Given the description of an element on the screen output the (x, y) to click on. 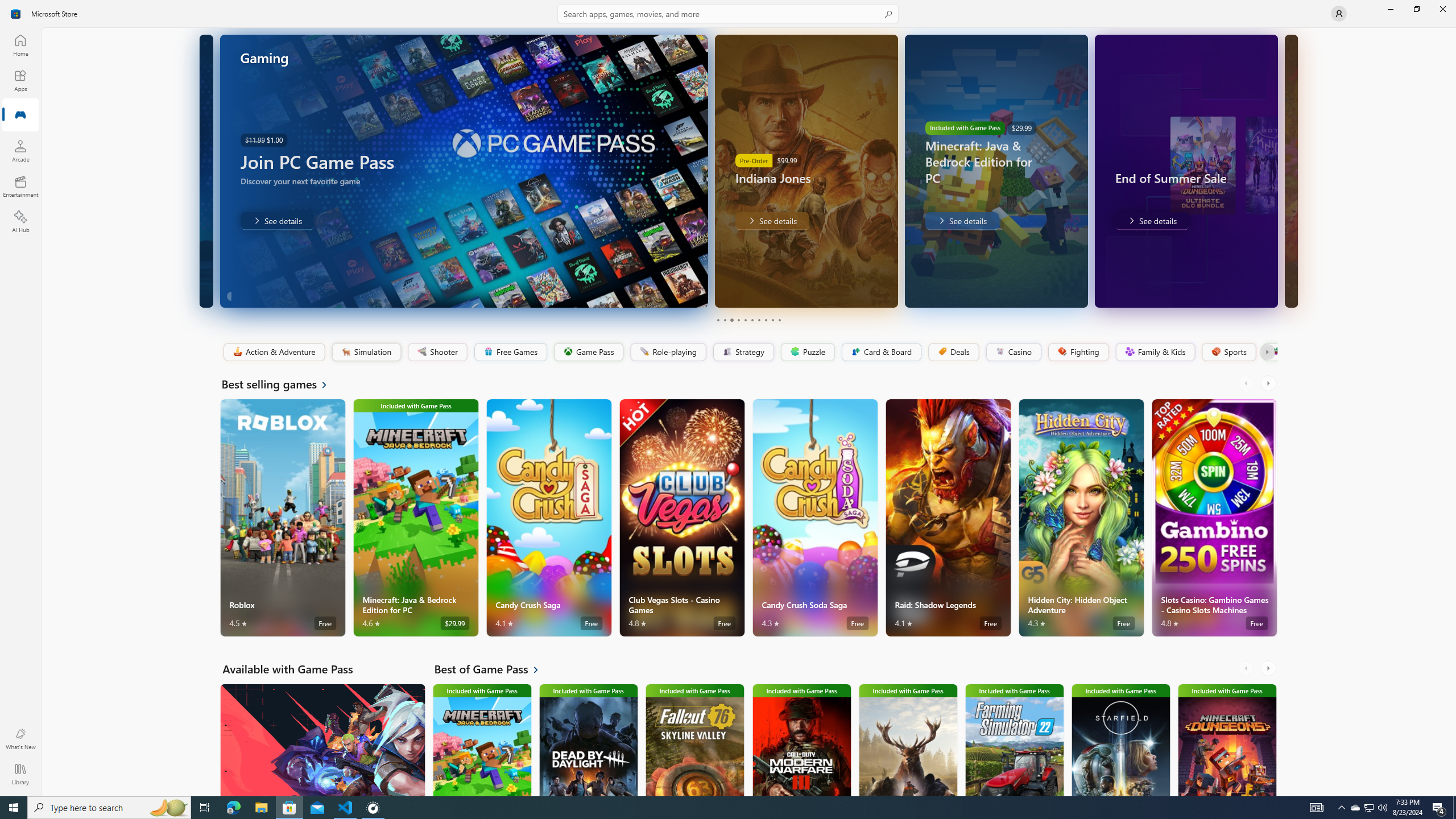
Deals (952, 352)
Page 6 (751, 319)
